Given the description of an element on the screen output the (x, y) to click on. 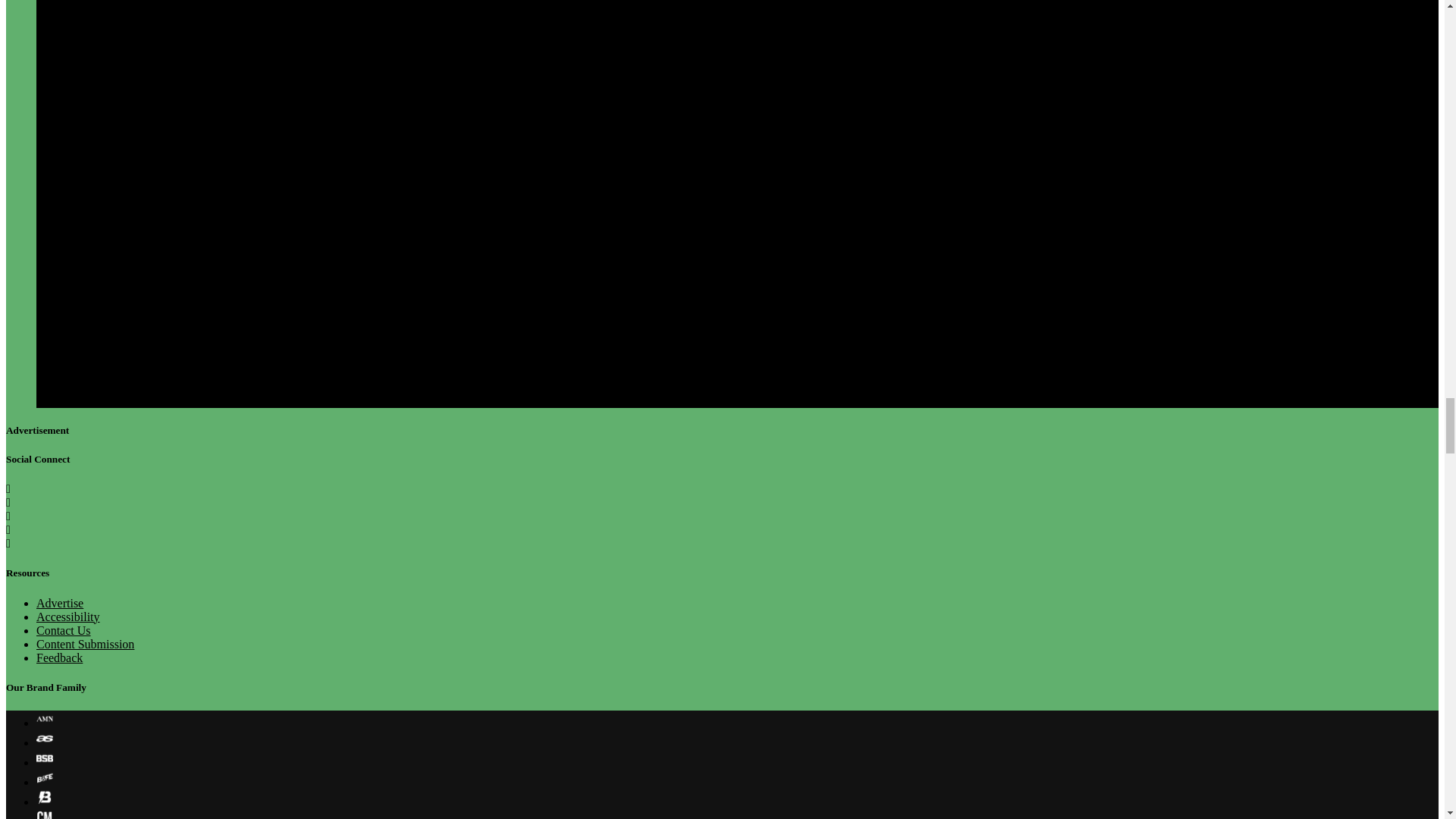
Advertise (59, 603)
Accessibility (68, 616)
